Given the description of an element on the screen output the (x, y) to click on. 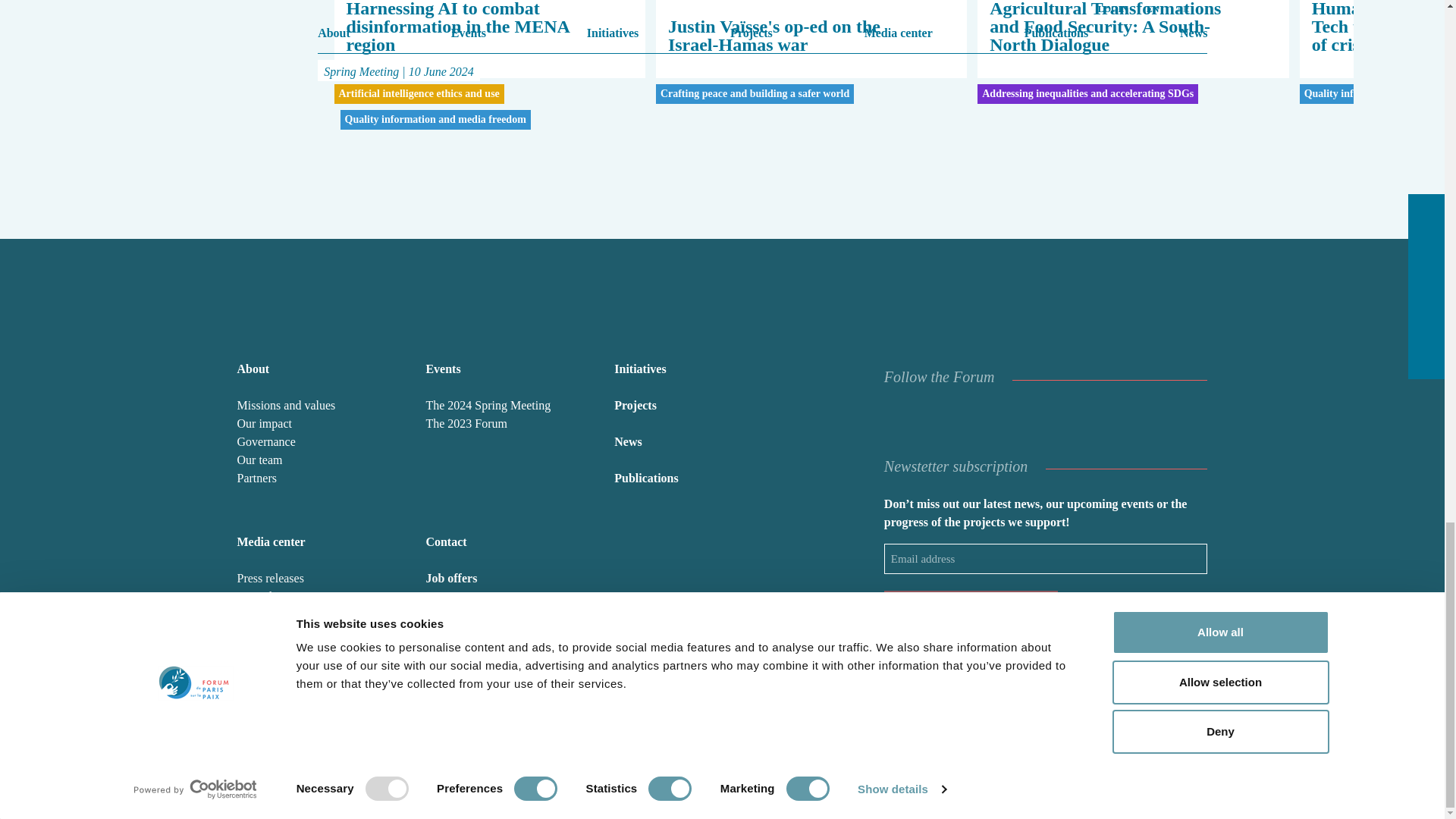
Subscribe to our Newsletter (970, 607)
